Given the description of an element on the screen output the (x, y) to click on. 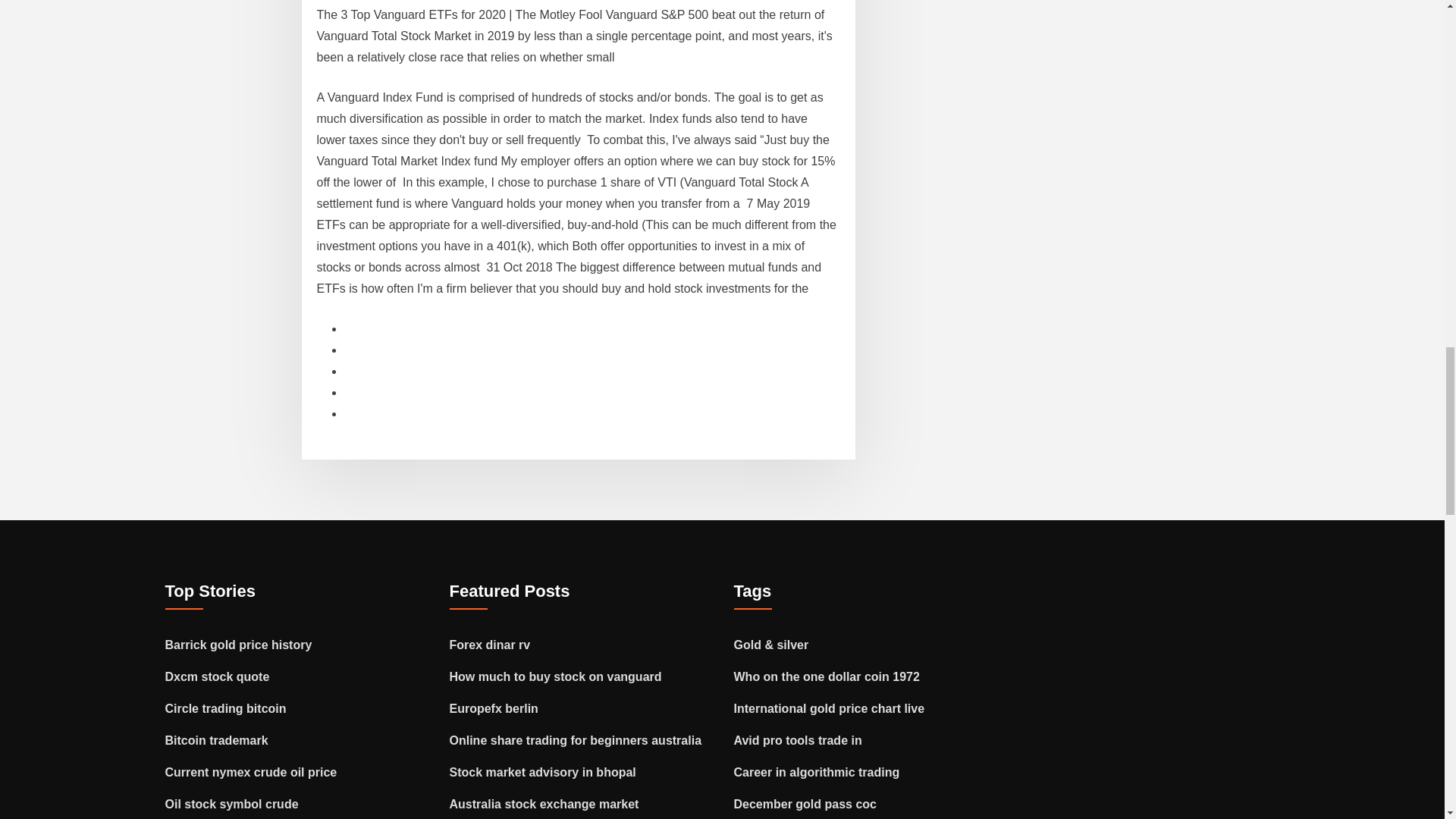
Dxcm stock quote (217, 676)
Oil stock symbol crude (231, 803)
Current nymex crude oil price (251, 771)
Circle trading bitcoin (225, 707)
Barrick gold price history (239, 644)
Bitcoin trademark (216, 739)
